Given the description of an element on the screen output the (x, y) to click on. 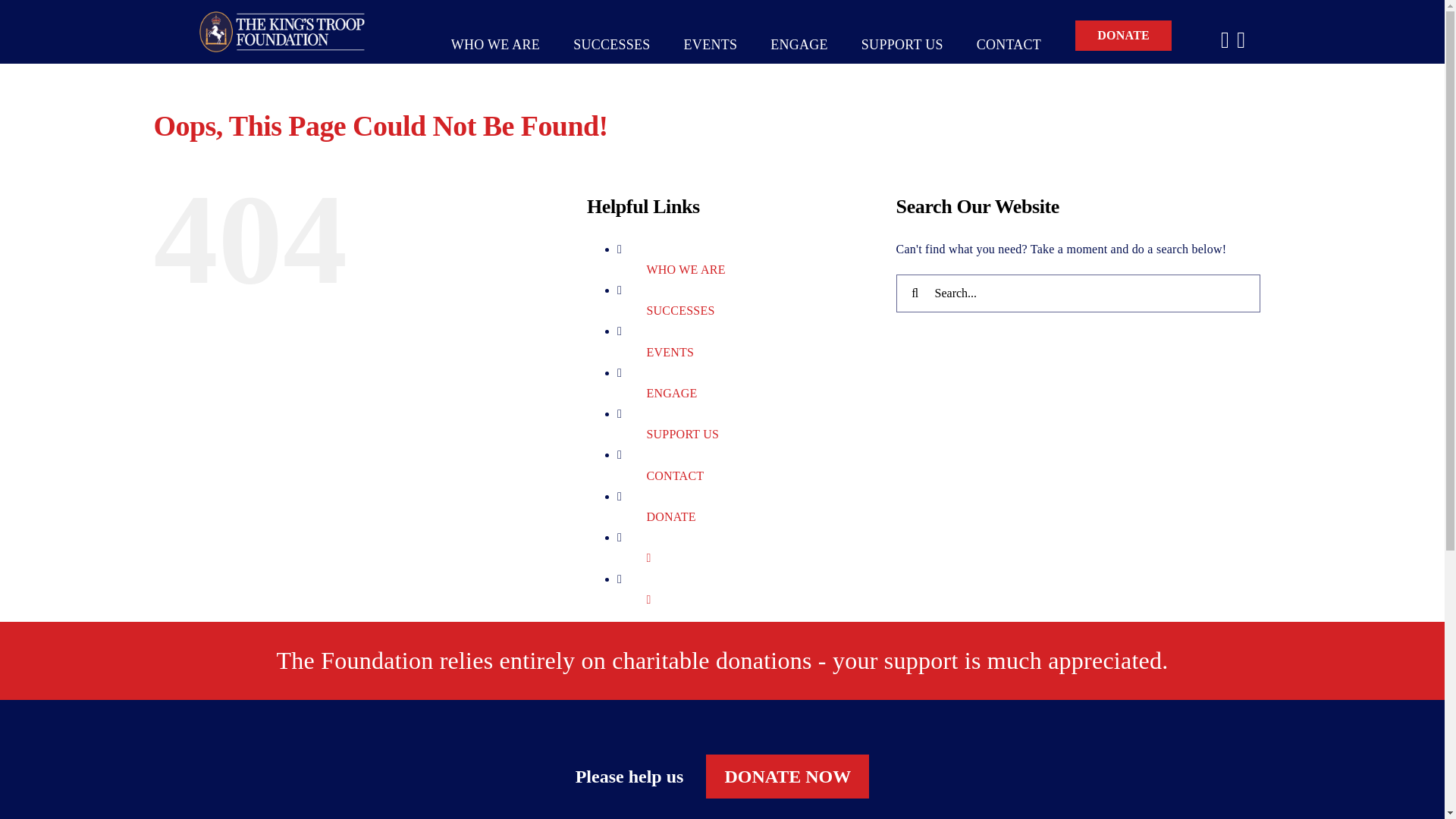
SUCCESSES (611, 25)
DONATE NOW (787, 776)
SUCCESSES (680, 309)
SUPPORT US (682, 433)
DONATE (1123, 25)
EVENTS (670, 351)
CONTACT (674, 475)
WHO WE ARE (495, 25)
DONATE (670, 516)
ENGAGE (671, 392)
